Given the description of an element on the screen output the (x, y) to click on. 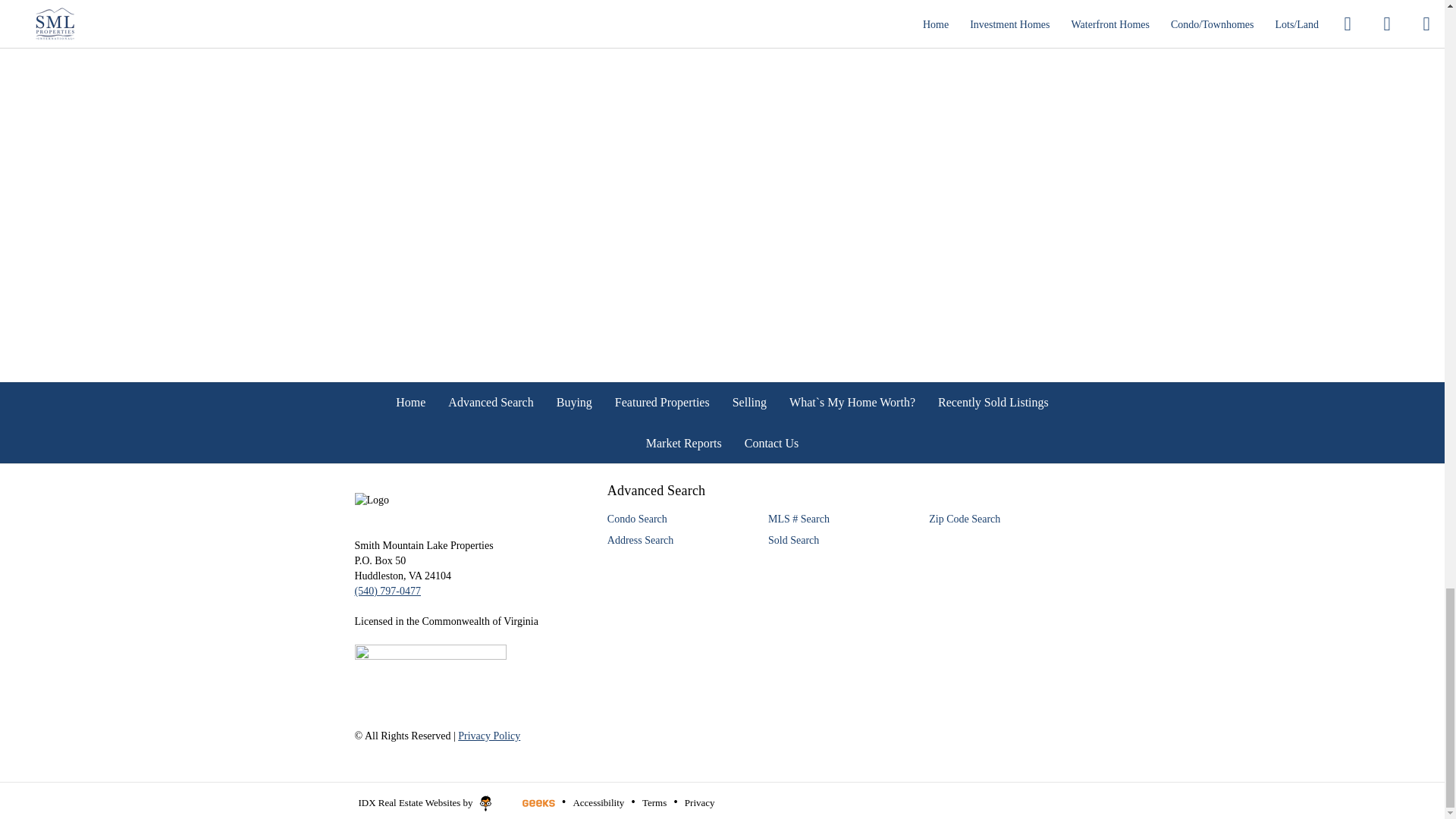
MLS Logo (430, 671)
Logo (468, 500)
